Given the description of an element on the screen output the (x, y) to click on. 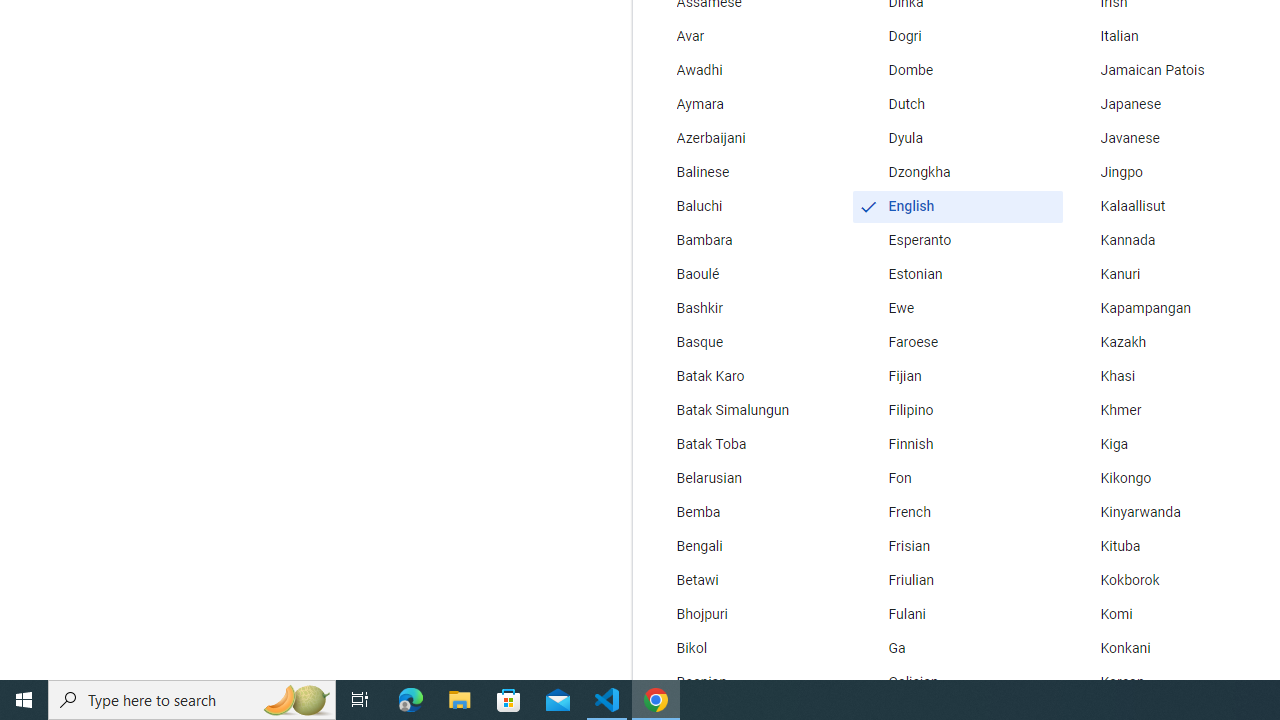
Kinyarwanda (1168, 512)
Kapampangan (1168, 308)
Dutch (957, 104)
Konkani (1168, 648)
Dzongkha (957, 172)
Kokborok (1168, 580)
Japanese (1168, 104)
Bambara (745, 240)
Awadhi (745, 70)
Fon (957, 478)
Baluchi (745, 206)
Betawi (745, 580)
Bosnian (745, 682)
Balinese (745, 172)
